Given the description of an element on the screen output the (x, y) to click on. 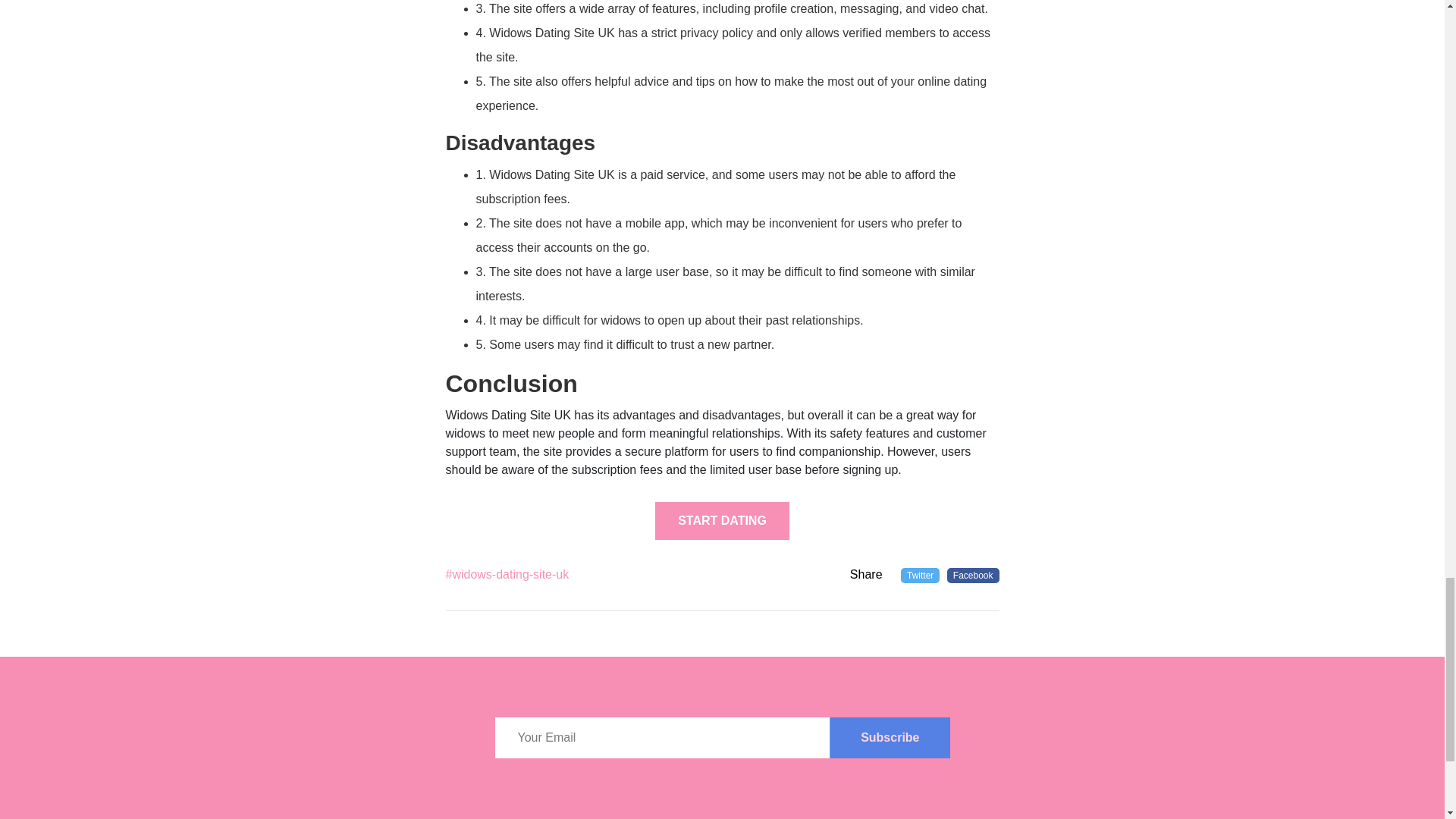
START DATING (722, 520)
Twitter (920, 575)
Facebook (972, 575)
Subscribe (889, 737)
